Given the description of an element on the screen output the (x, y) to click on. 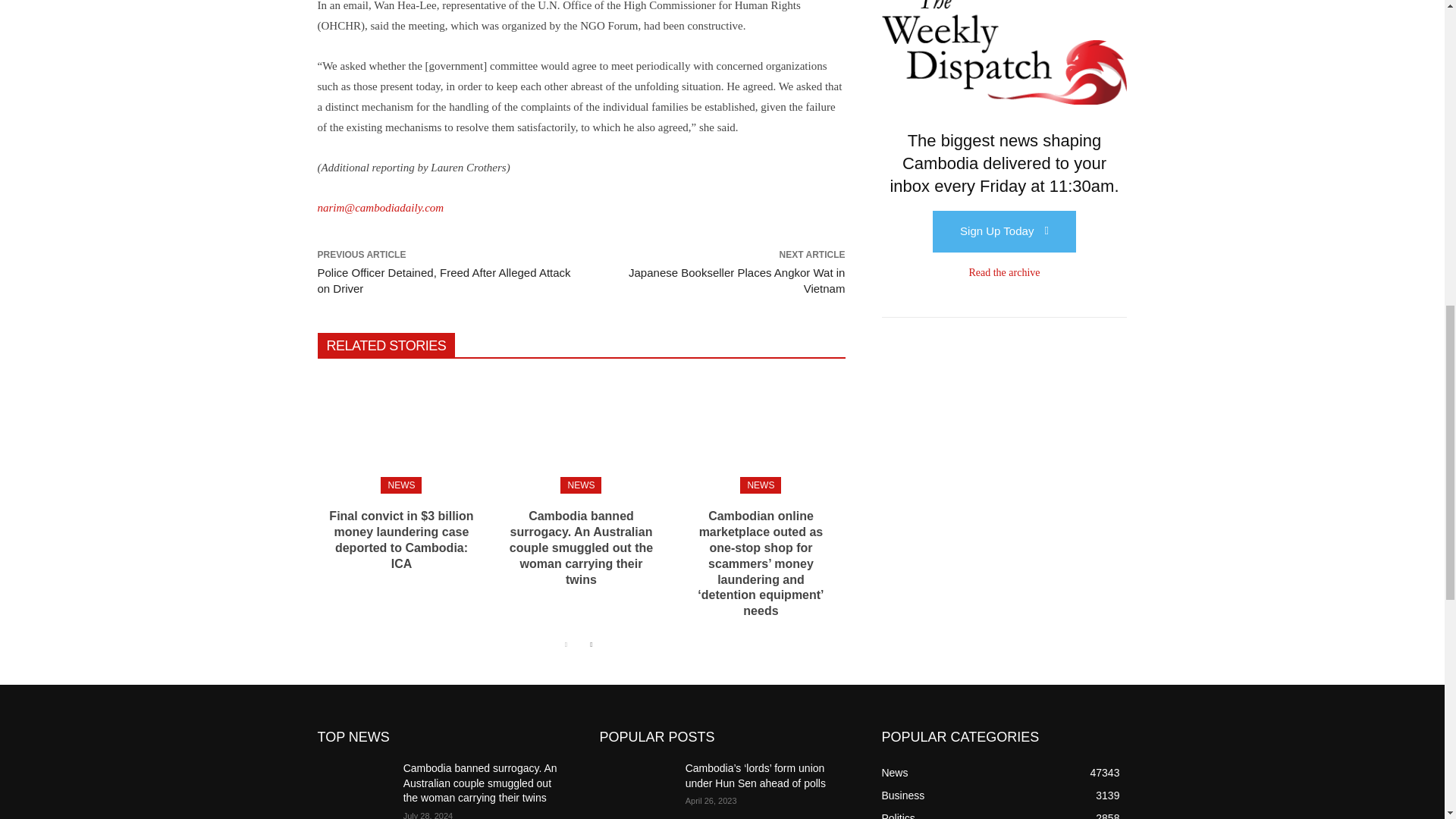
NEWS (580, 484)
NEWS (401, 484)
Japanese Bookseller Places Angkor Wat in Vietnam (736, 280)
